Given the description of an element on the screen output the (x, y) to click on. 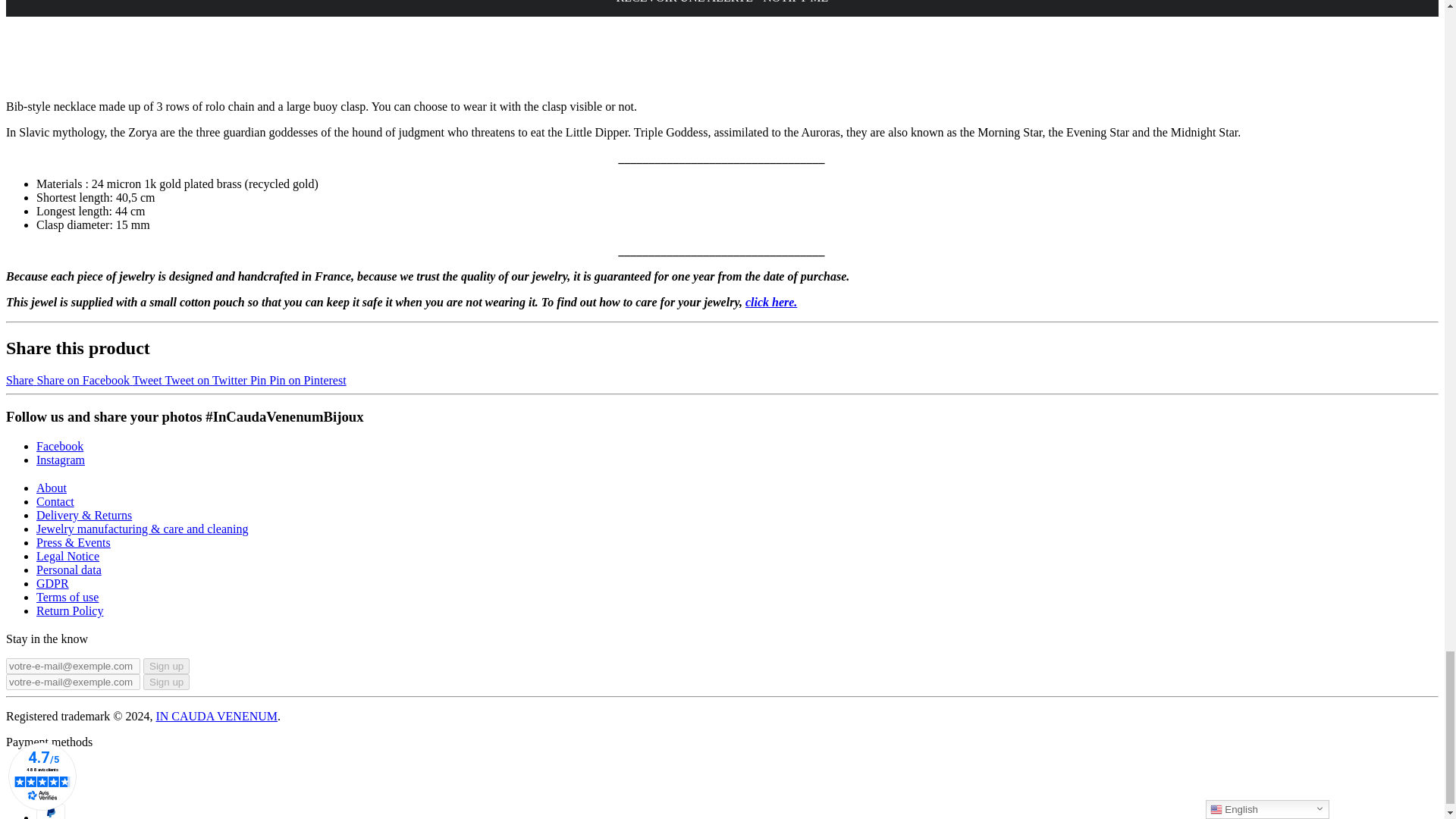
Pin on Pinterest (298, 379)
Tweet Tweet on Twitter (191, 379)
Share on Facebook (68, 379)
IN CAUDA VENENUM on Instagram (60, 459)
Apple Pay (50, 770)
Share Share on Facebook (68, 379)
IN CAUDA VENENUM on Facebook (59, 445)
click here. (770, 301)
Facebook (59, 445)
Pin Pin on Pinterest (298, 379)
Tweet on Twitter (191, 379)
Sign up (165, 666)
Google Pay (50, 791)
